Given the description of an element on the screen output the (x, y) to click on. 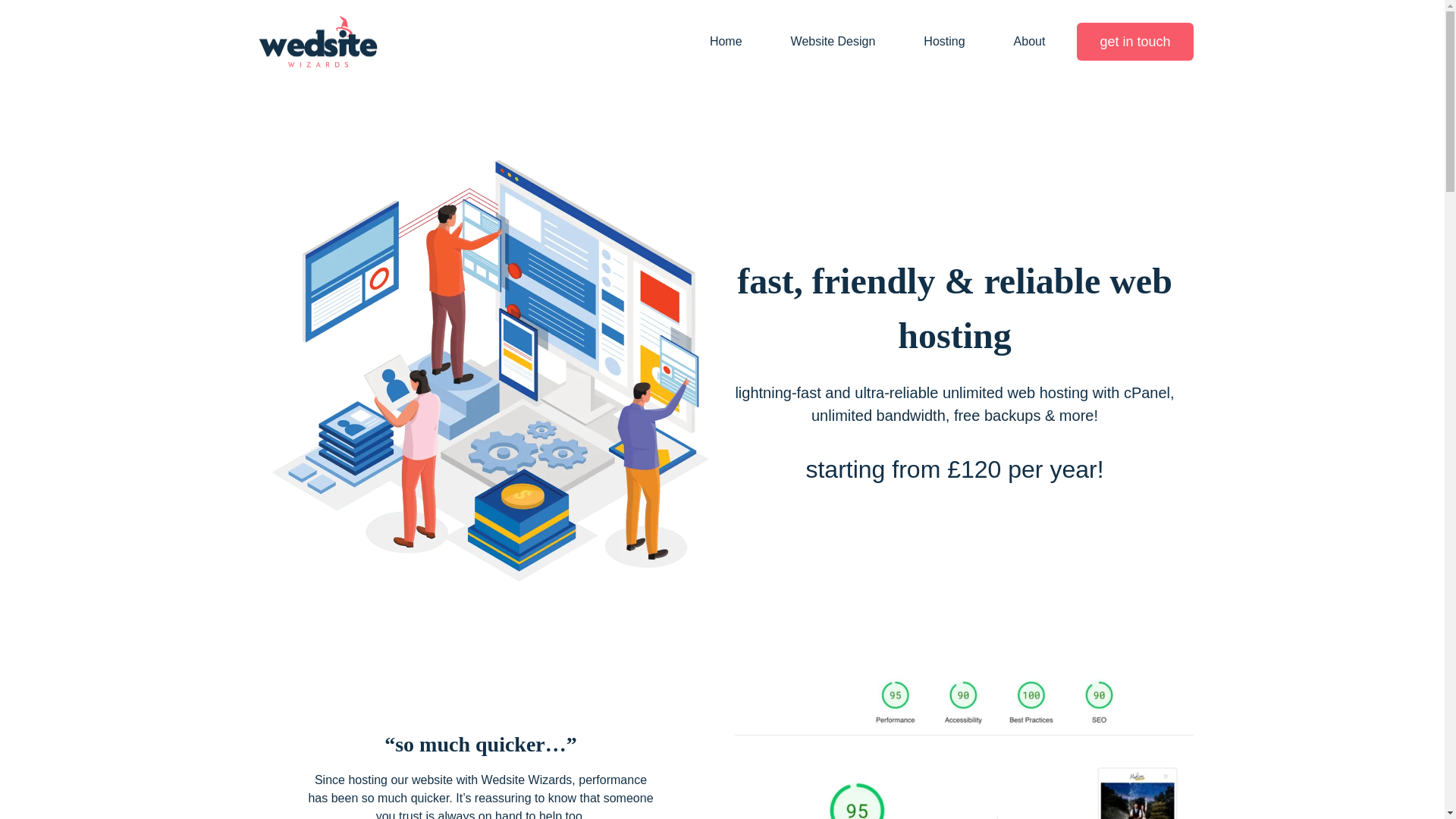
get in touch (1134, 41)
Hosting (943, 41)
Website Design (833, 41)
Home (726, 41)
About (1030, 41)
